Given the description of an element on the screen output the (x, y) to click on. 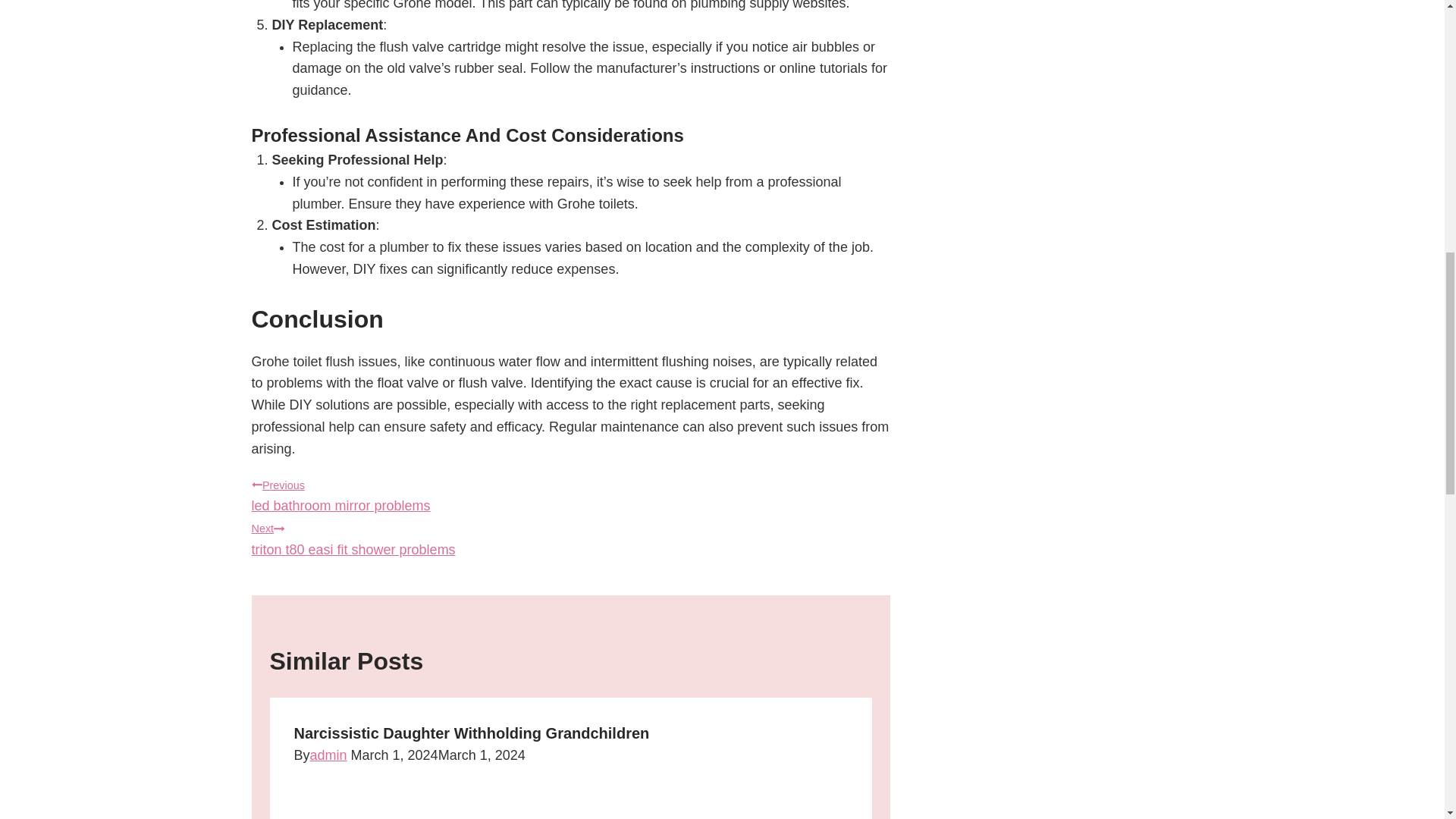
Narcissistic Daughter Withholding Grandchildren (471, 733)
I Need Space Text Message Examples (570, 536)
admin (570, 494)
